Given the description of an element on the screen output the (x, y) to click on. 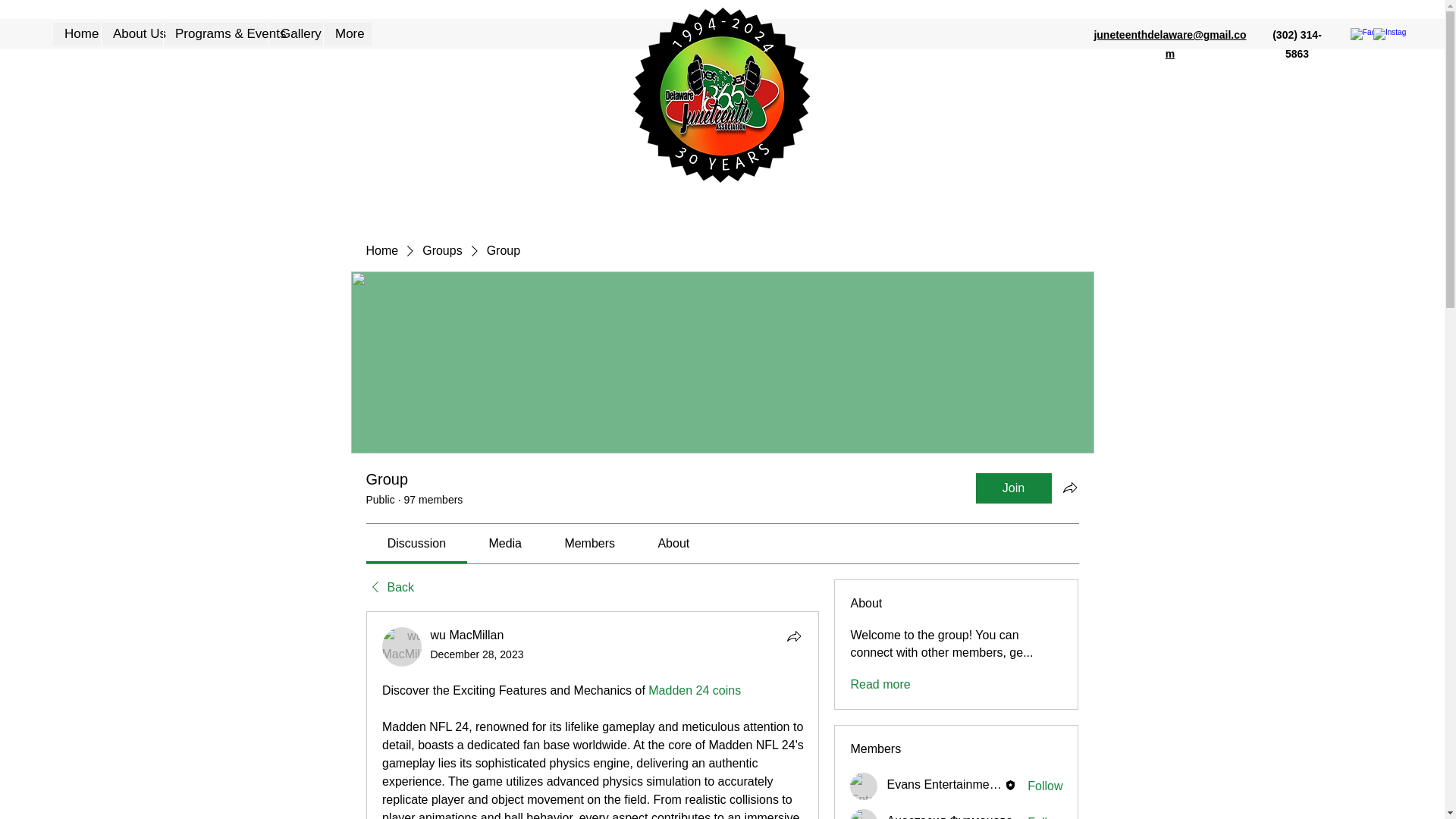
Gallery (295, 33)
Follow (1044, 786)
Home (381, 250)
About Us (131, 33)
Home (76, 33)
Madden 24 coins (694, 689)
Evans Entertainment Group, LLC (863, 786)
December 28, 2023 (477, 654)
Read more (880, 684)
Follow (1044, 816)
Join (1013, 488)
Back (389, 587)
Groups (441, 250)
Evans Entertainment Group, LLC (975, 784)
wu MacMillan (401, 646)
